Given the description of an element on the screen output the (x, y) to click on. 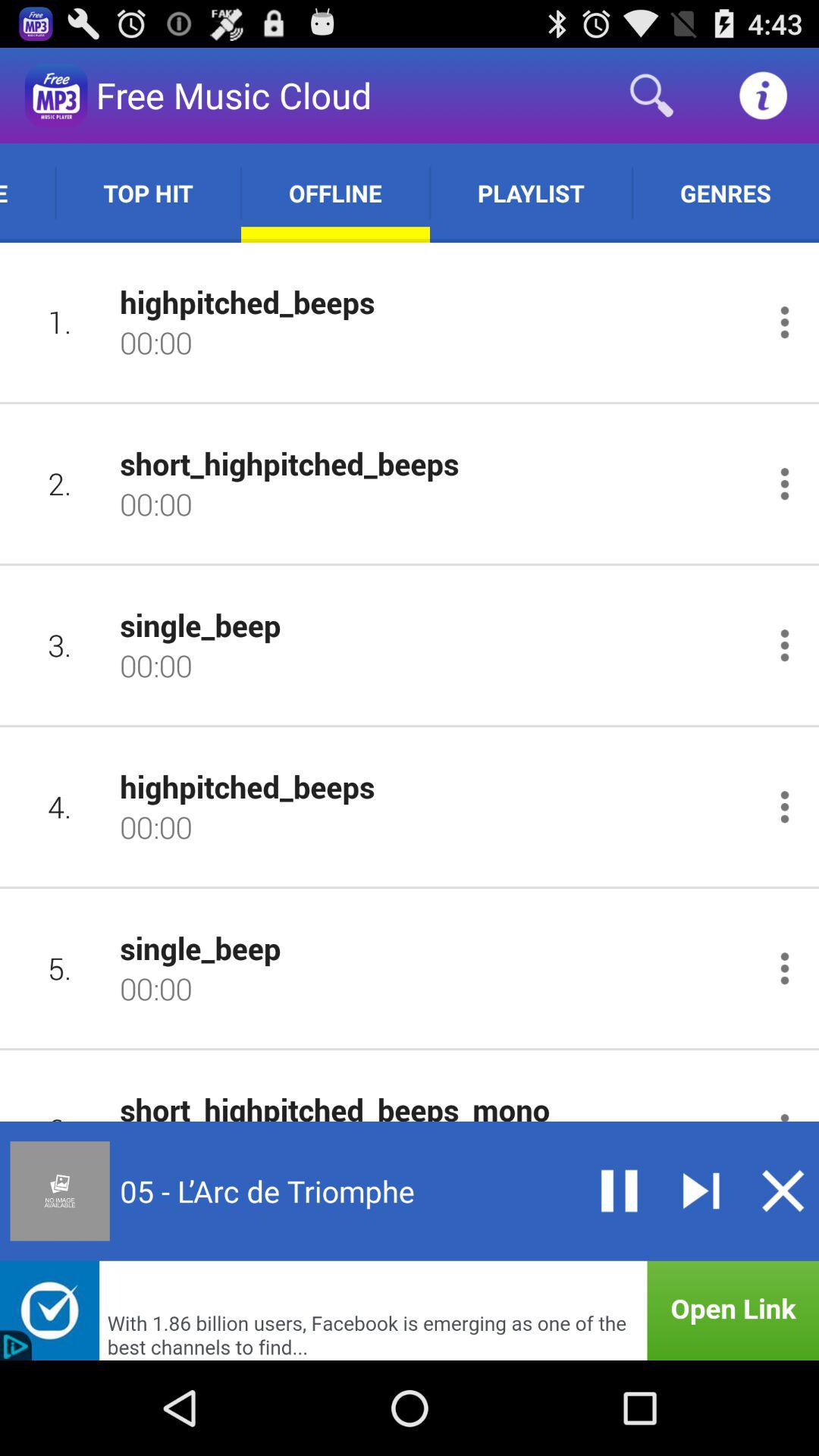
fast forward (701, 1190)
